Given the description of an element on the screen output the (x, y) to click on. 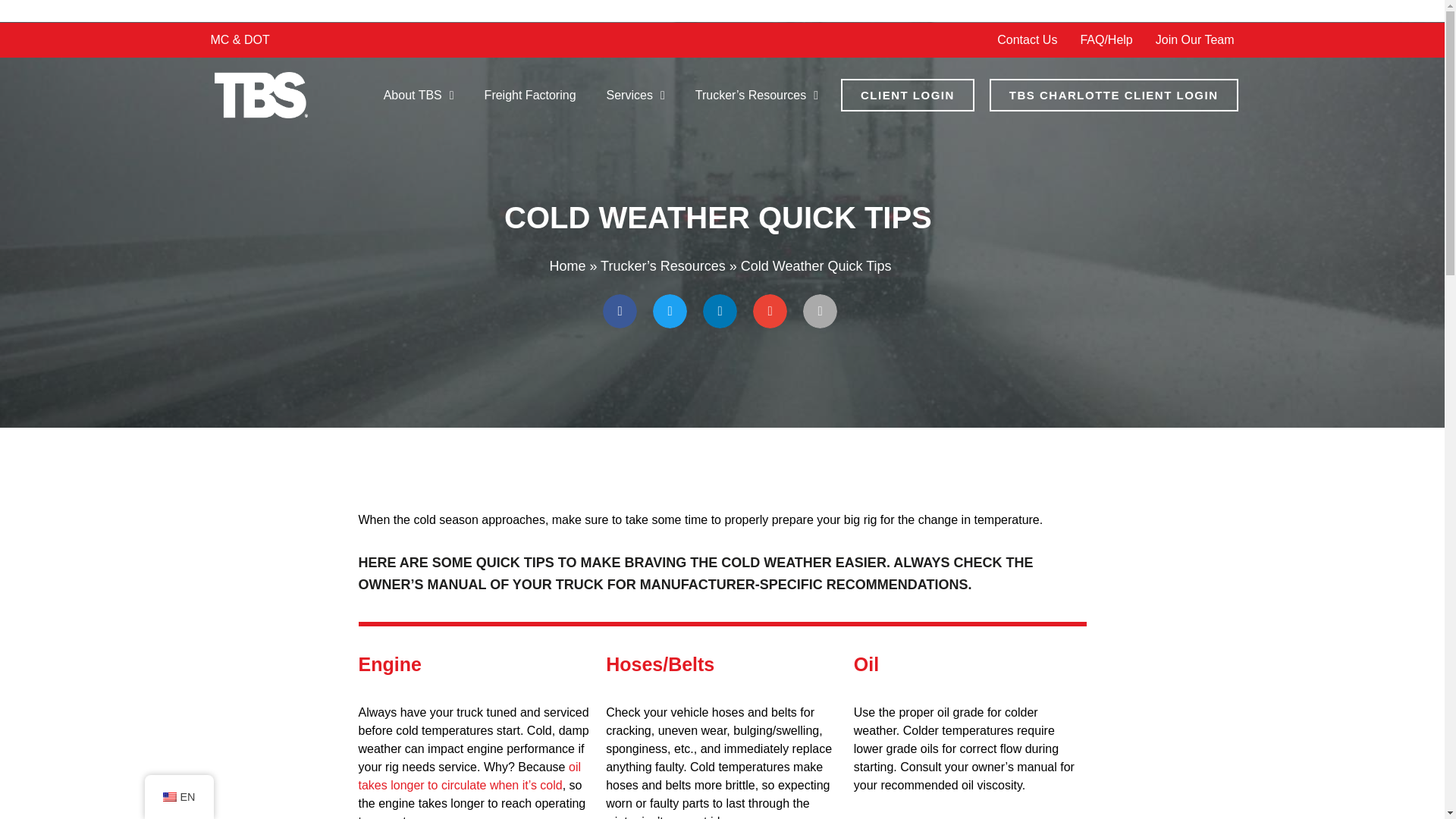
Services (635, 95)
English (168, 796)
Join Our Team (1195, 39)
About TBS (418, 95)
Contact Us (1026, 39)
Freight Factoring (529, 95)
